Given the description of an element on the screen output the (x, y) to click on. 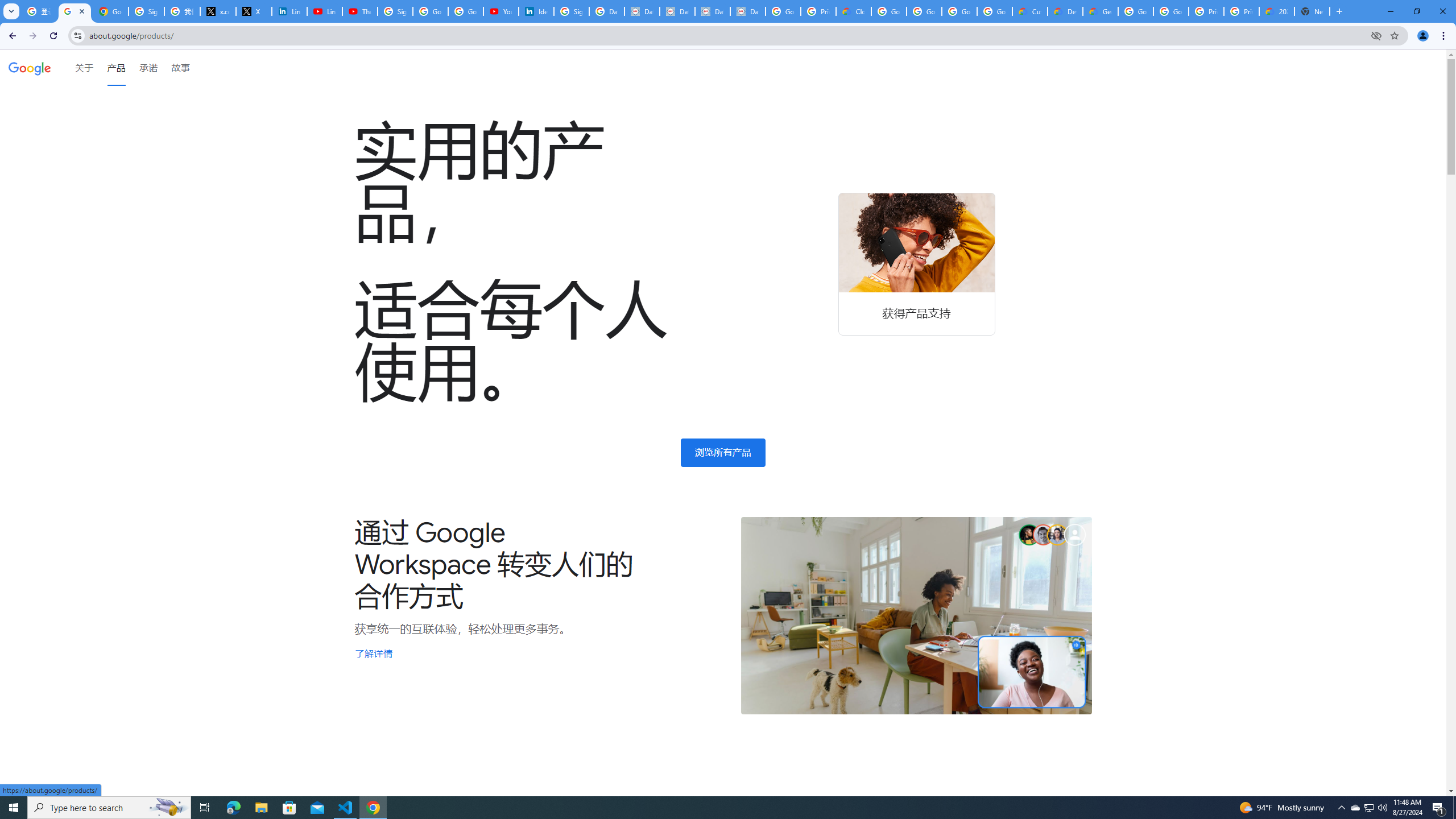
Identity verification via Persona | LinkedIn Help (536, 11)
Cloud Data Processing Addendum | Google Cloud (853, 11)
LinkedIn - YouTube (324, 11)
LinkedIn Privacy Policy (288, 11)
Gemini for Business and Developers | Google Cloud (1099, 11)
